Given the description of an element on the screen output the (x, y) to click on. 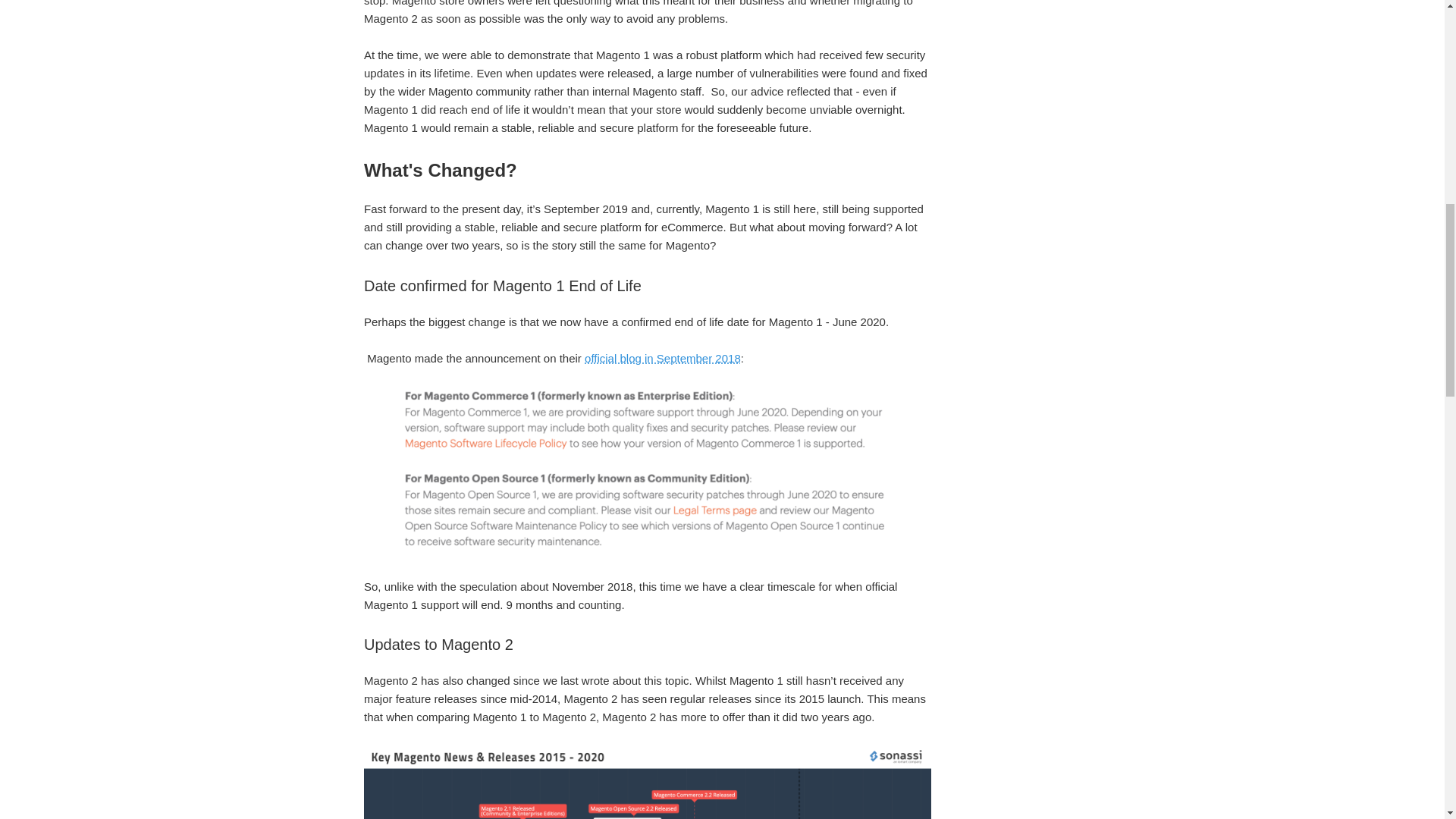
official blog in September 2018 (663, 358)
